Given the description of an element on the screen output the (x, y) to click on. 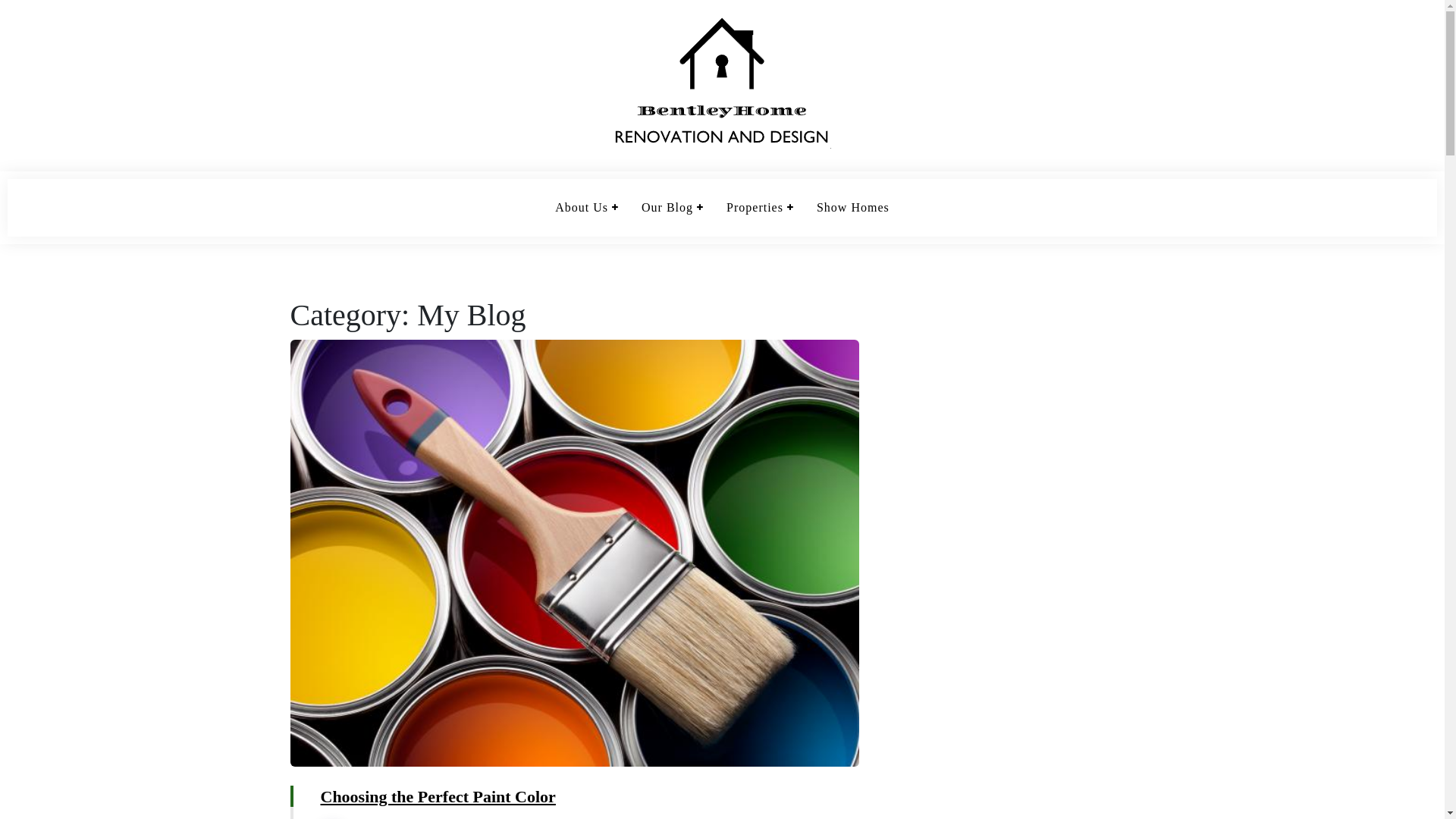
Bentley Home Renovation Element type: text (373, 170)
Show Homes Element type: text (852, 207)
About Us Element type: text (581, 207)
Properties Element type: text (754, 207)
Choosing the Perfect Paint Color Element type: text (437, 796)
Our Blog Element type: text (667, 207)
